Given the description of an element on the screen output the (x, y) to click on. 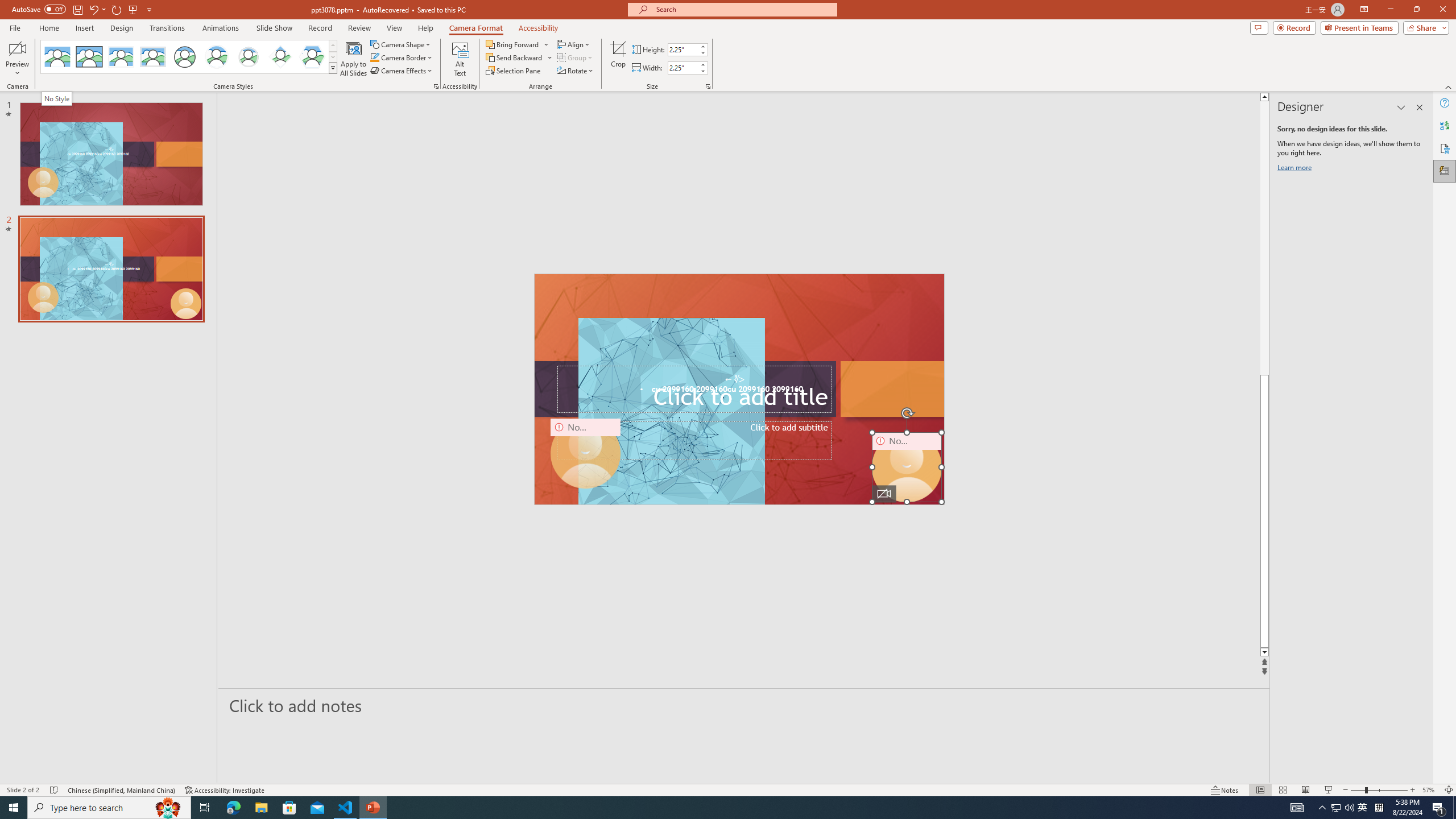
Camera 11, No camera detected. (906, 466)
Design (122, 28)
Group (575, 56)
Record (320, 28)
Center Shadow Circle (216, 56)
Send Backward (514, 56)
Notes  (1225, 790)
Align (574, 44)
Zoom to Fit  (1449, 790)
Less (702, 70)
Class: NetUIImage (332, 68)
Save (77, 9)
Line up (1427, 96)
Review (359, 28)
An abstract genetic concept (738, 389)
